Given the description of an element on the screen output the (x, y) to click on. 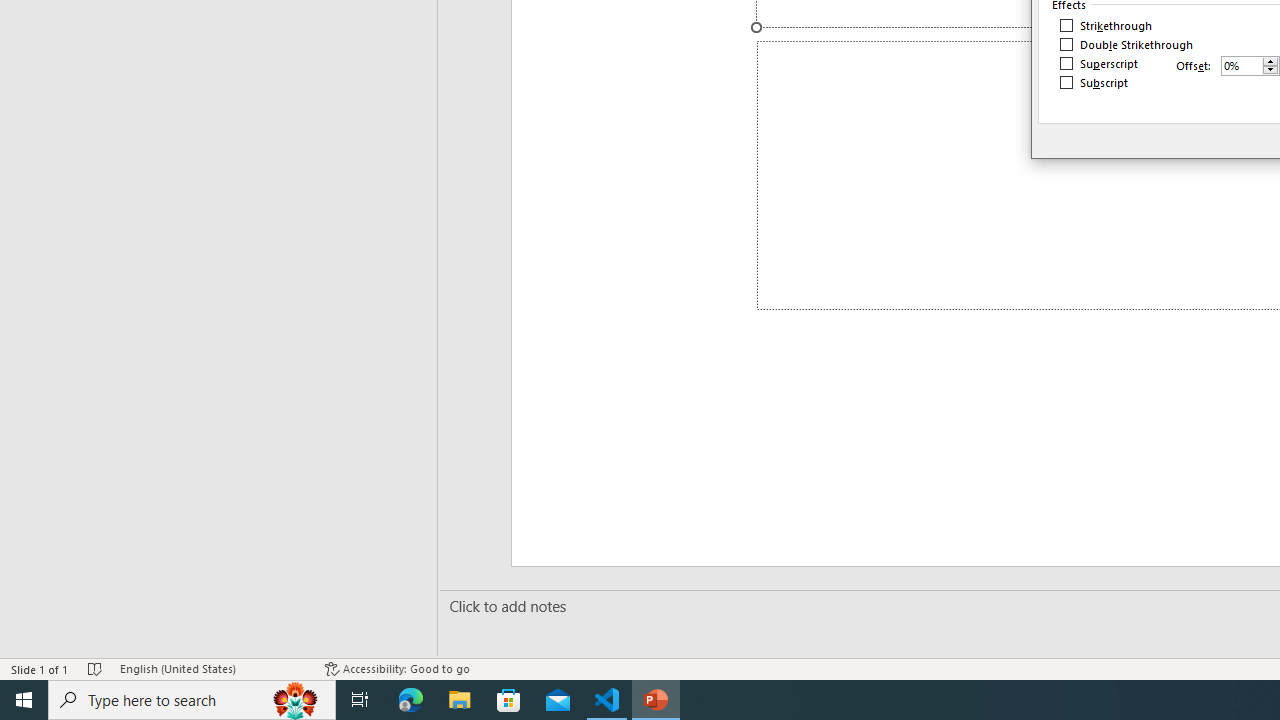
Subscript (1094, 82)
Double Strikethrough (1127, 44)
